Given the description of an element on the screen output the (x, y) to click on. 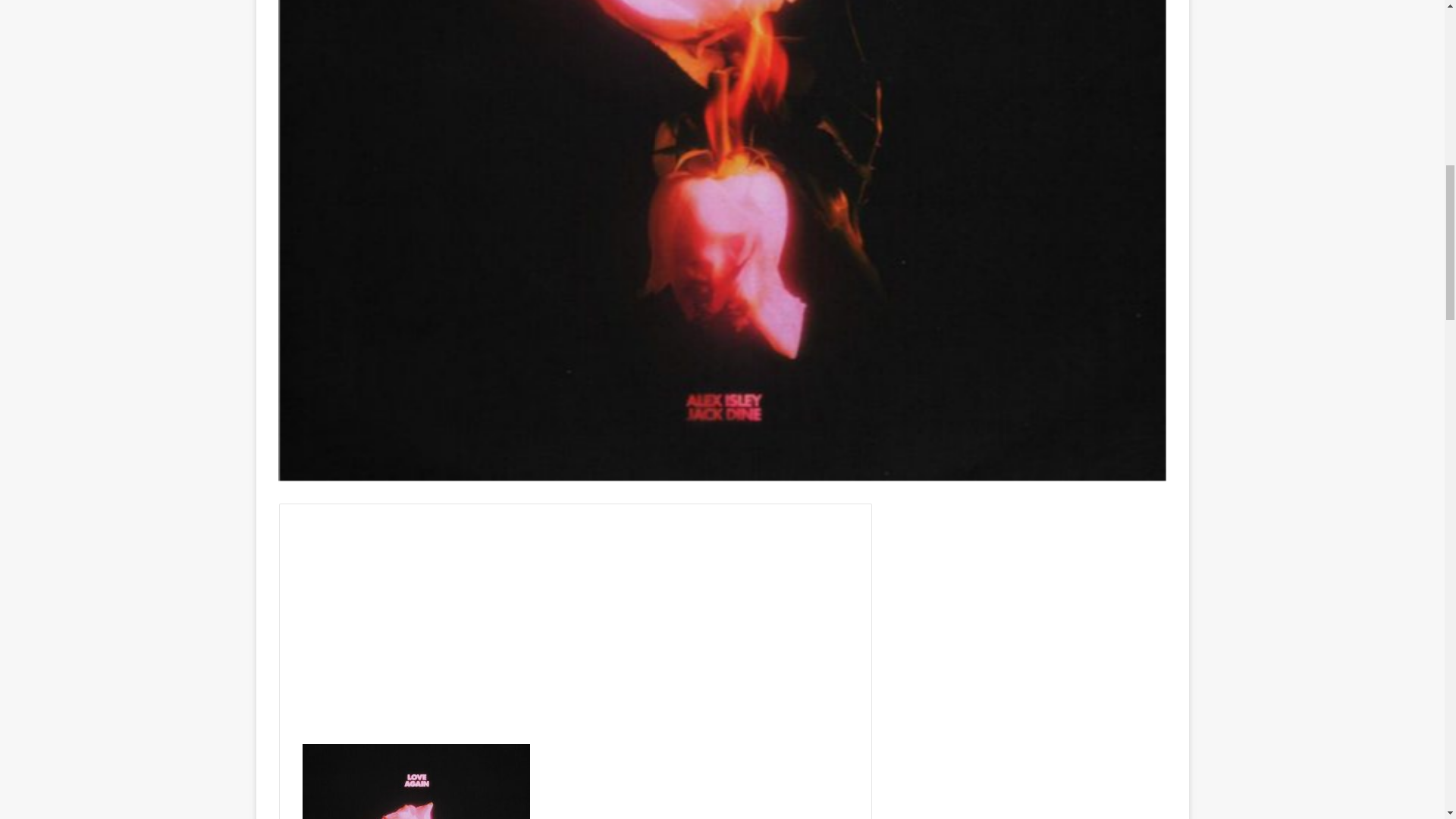
Advertisement (574, 631)
